Given the description of an element on the screen output the (x, y) to click on. 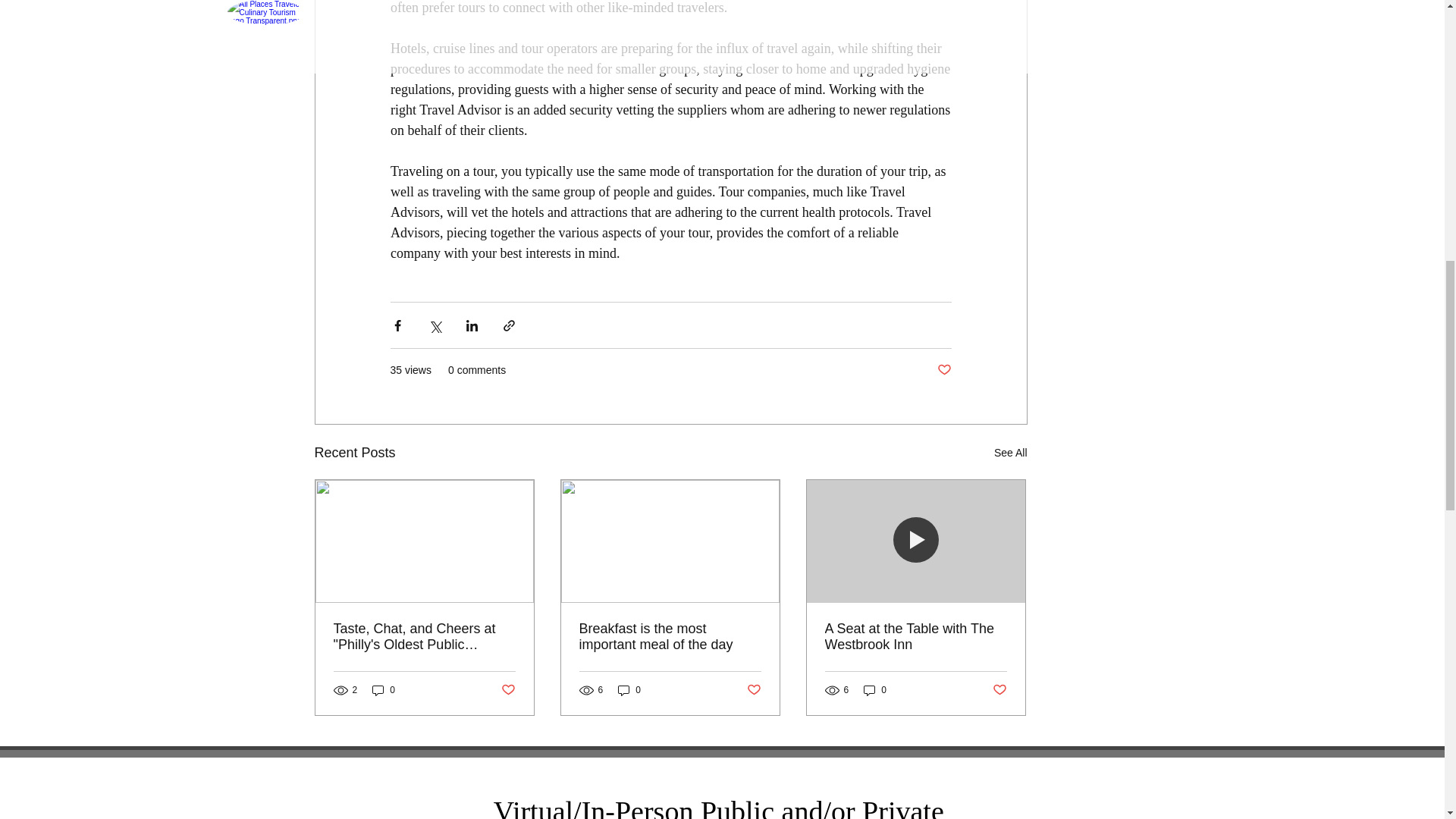
Post not marked as liked (944, 370)
Taste, Chat, and Cheers at "Philly's Oldest Public Market"! (424, 636)
See All (1010, 453)
0 (874, 690)
Post not marked as liked (507, 690)
Breakfast is the most important meal of the day (670, 636)
Post not marked as liked (752, 690)
0 (628, 690)
A Seat at the Table with The Westbrook Inn (916, 636)
Post not marked as liked (998, 690)
